Given the description of an element on the screen output the (x, y) to click on. 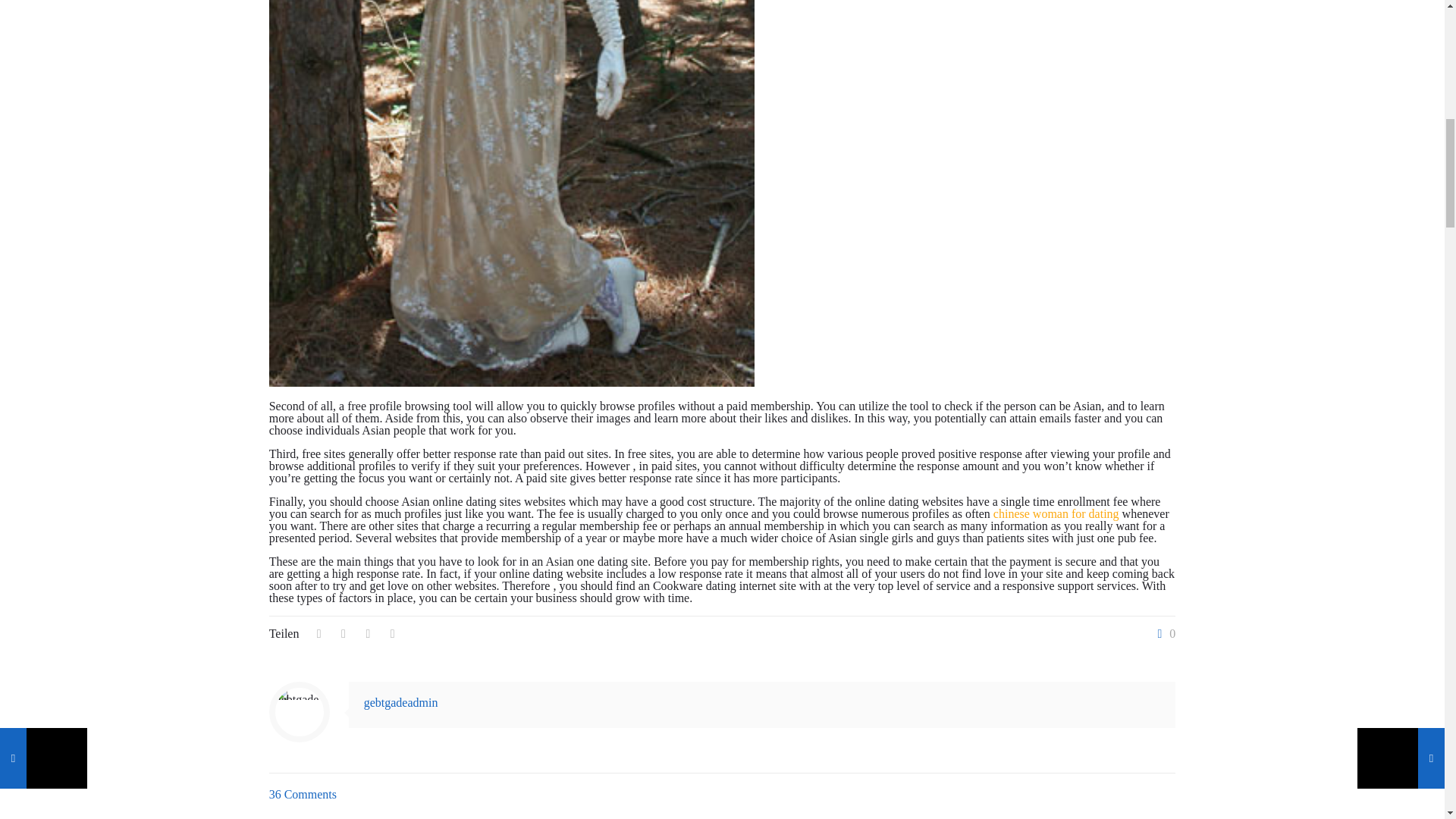
gebtgadeadmin (401, 702)
0 (1162, 633)
chinese woman for dating (1055, 513)
